Given the description of an element on the screen output the (x, y) to click on. 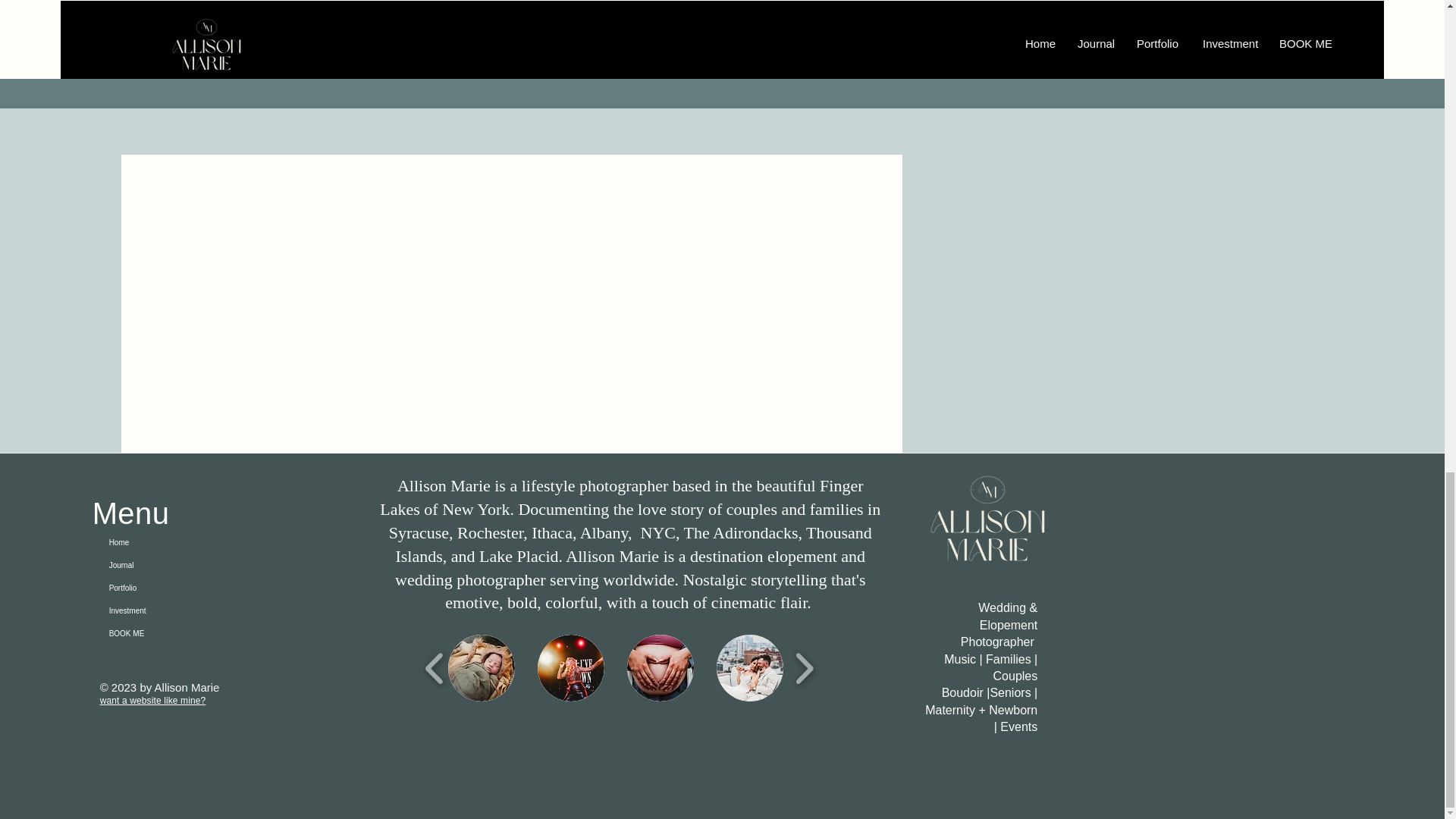
Portfolio (144, 588)
want a website like mine? (153, 700)
Home (144, 542)
Journal (144, 565)
BOOK ME (144, 633)
18.png (987, 537)
Investment (144, 610)
